Given the description of an element on the screen output the (x, y) to click on. 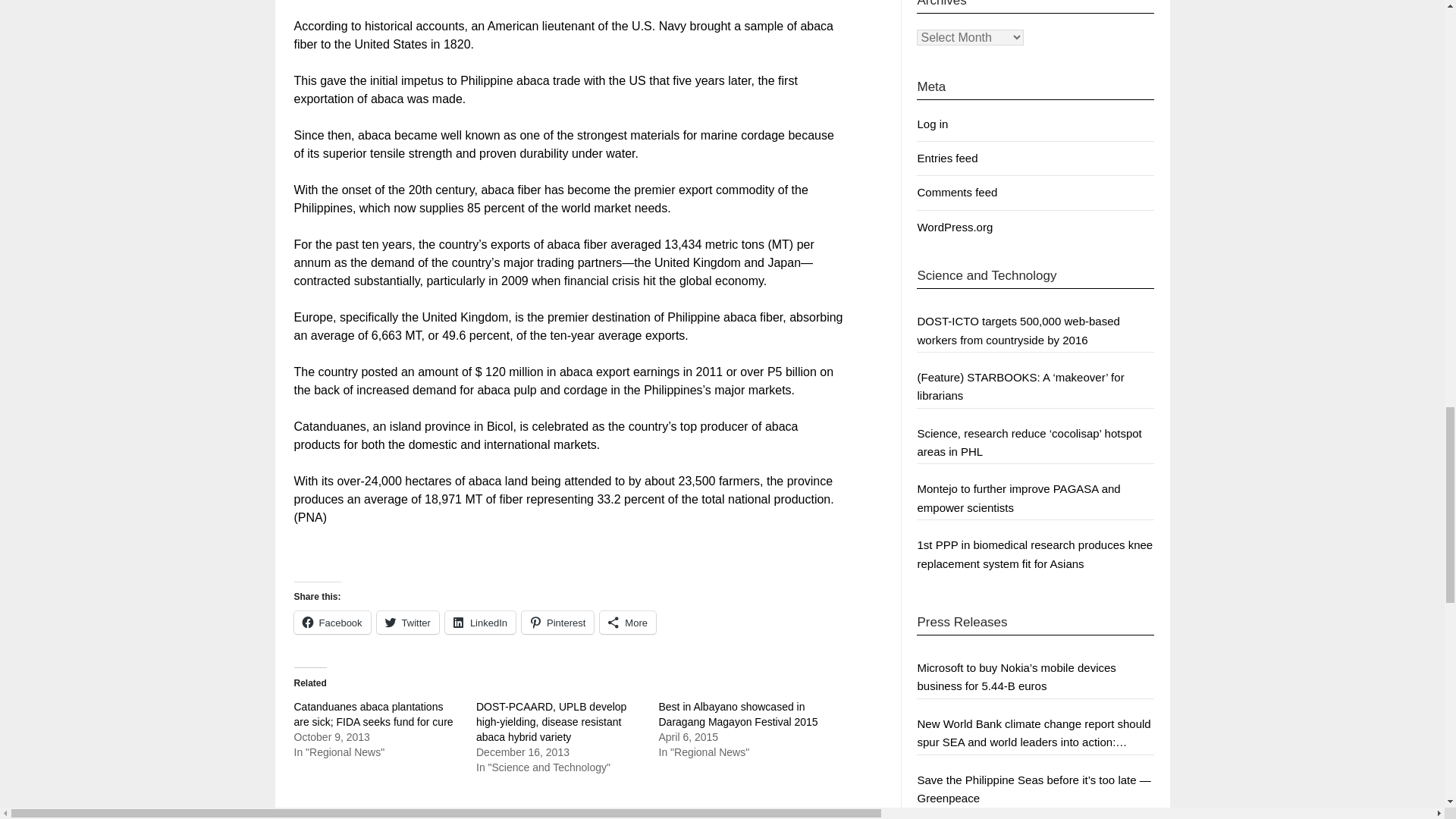
Facebook (332, 621)
Click to share on Pinterest (557, 621)
More (627, 621)
Best in Albayano showcased in Daragang Magayon Festival 2015 (737, 714)
Twitter (408, 621)
Click to share on LinkedIn (480, 621)
Best in Albayano showcased in Daragang Magayon Festival 2015 (737, 714)
Click to share on Twitter (408, 621)
Pinterest (557, 621)
Click to share on Facebook (332, 621)
LinkedIn (480, 621)
